Given the description of an element on the screen output the (x, y) to click on. 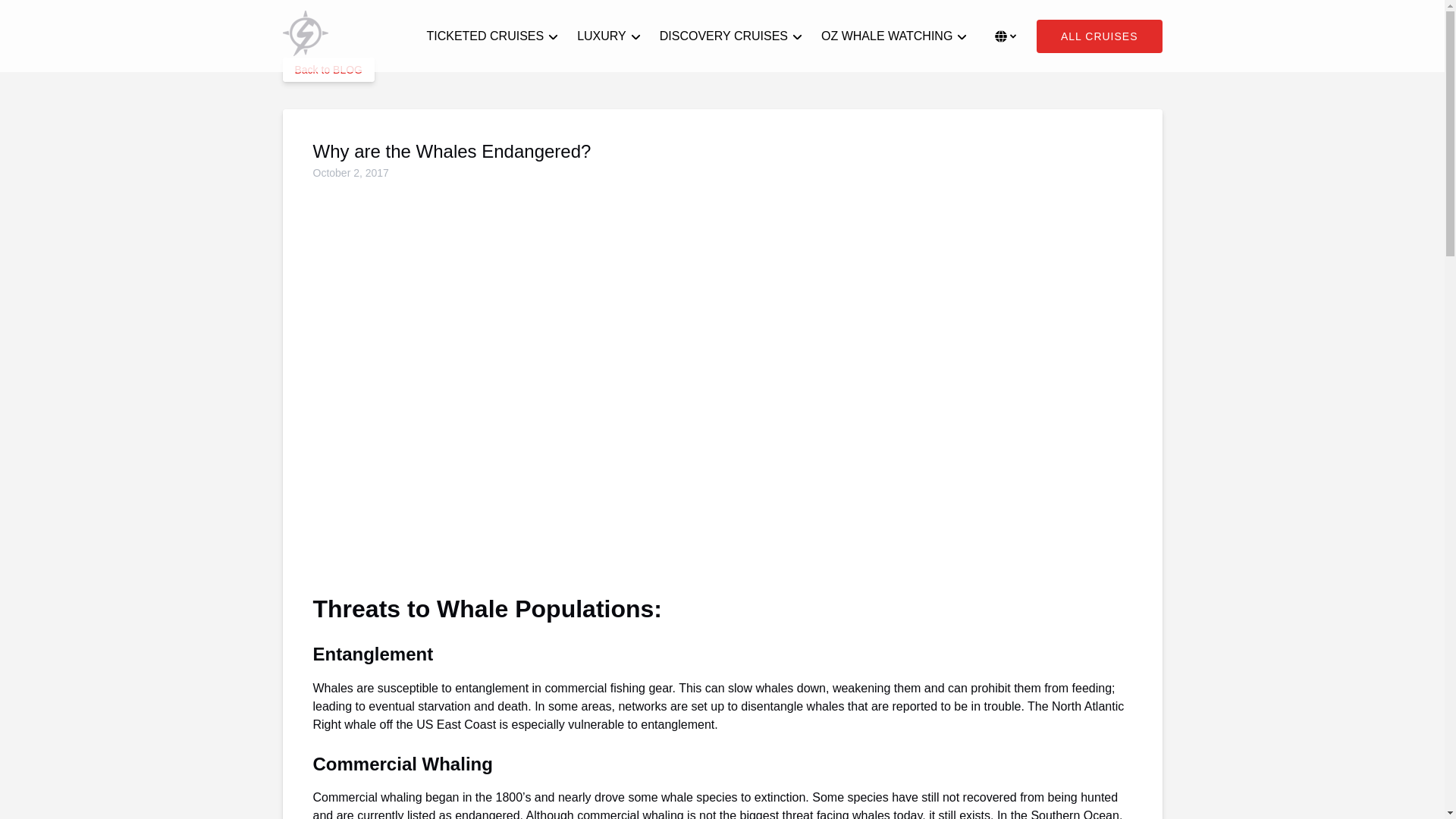
Open Ticketed Cruises Menu (489, 26)
Open LUXURY Menu (612, 32)
Open Oz Whale Watching Menu (891, 26)
Open DISCOVERY CRUISES Menu (735, 32)
Skip to footer (42, 16)
TICKETED CRUISES (491, 35)
Skip to content (47, 16)
OZ WHALE WATCHING (894, 35)
Skip to primary navigation (77, 16)
DISCOVERY CRUISES (731, 35)
LUXURY (608, 35)
